Given the description of an element on the screen output the (x, y) to click on. 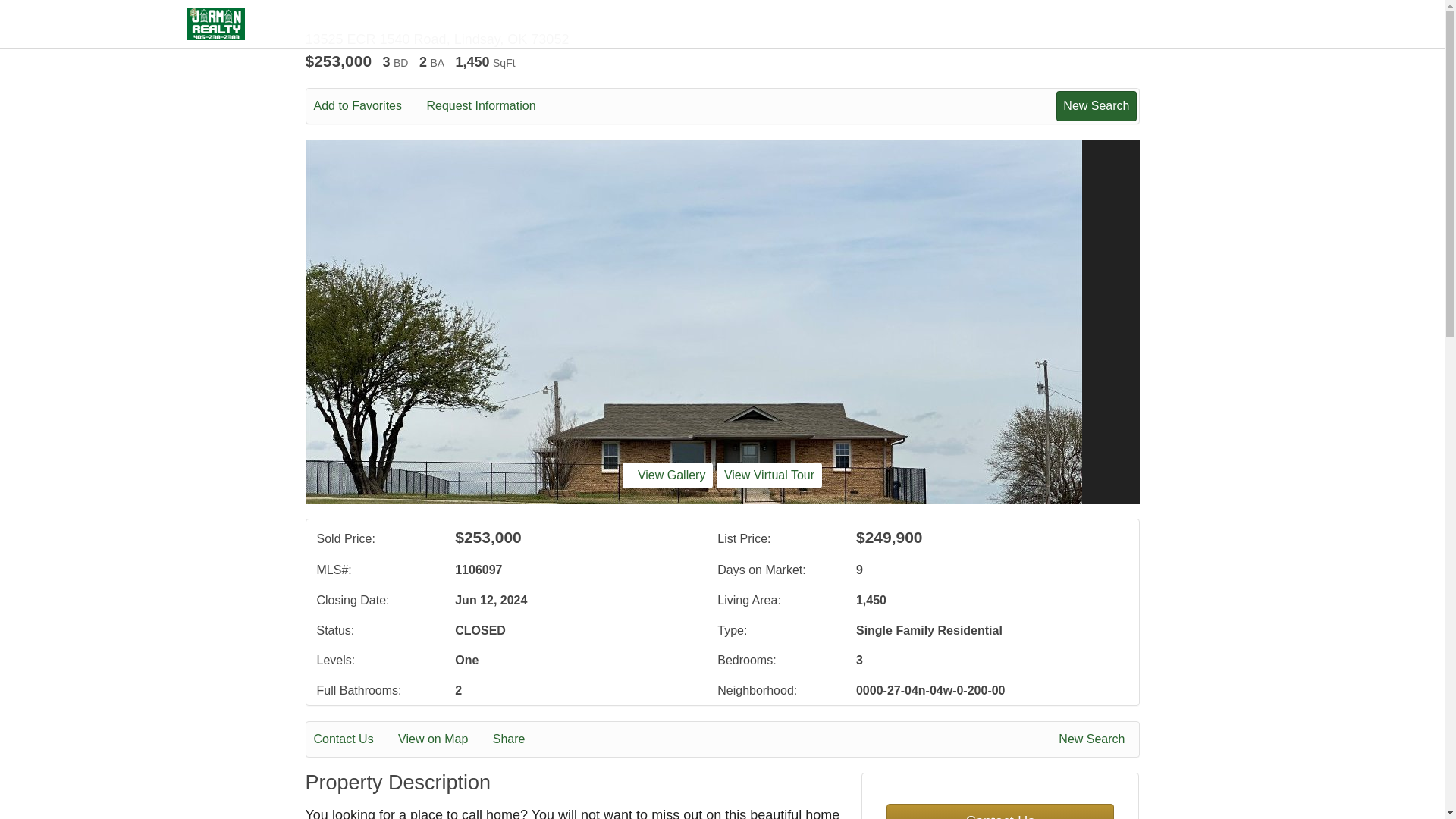
Contact Us (354, 739)
View Gallery (668, 475)
Contact Us (999, 811)
New Search (1096, 105)
View Gallery (668, 474)
View on Map (443, 739)
New Search (1094, 739)
Share (520, 739)
View Virtual Tour (769, 474)
Add to Favorites (368, 106)
Request Information (491, 106)
View Virtual Tour (769, 475)
